Given the description of an element on the screen output the (x, y) to click on. 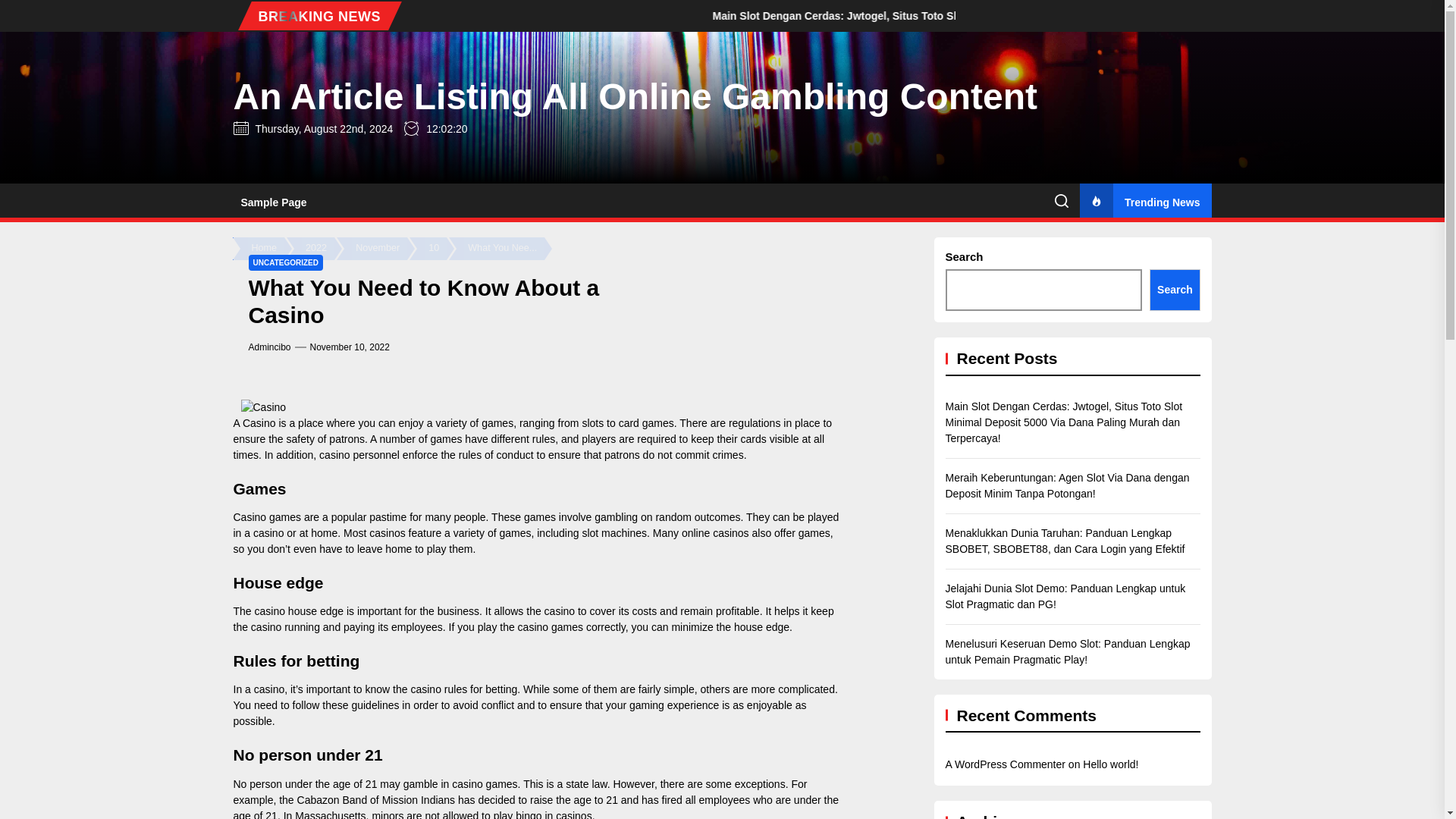
2022 (317, 248)
An Article Listing All Online Gambling Content (634, 96)
November (379, 248)
Sample Page (273, 202)
Trending News (1145, 202)
Home (265, 248)
